Given the description of an element on the screen output the (x, y) to click on. 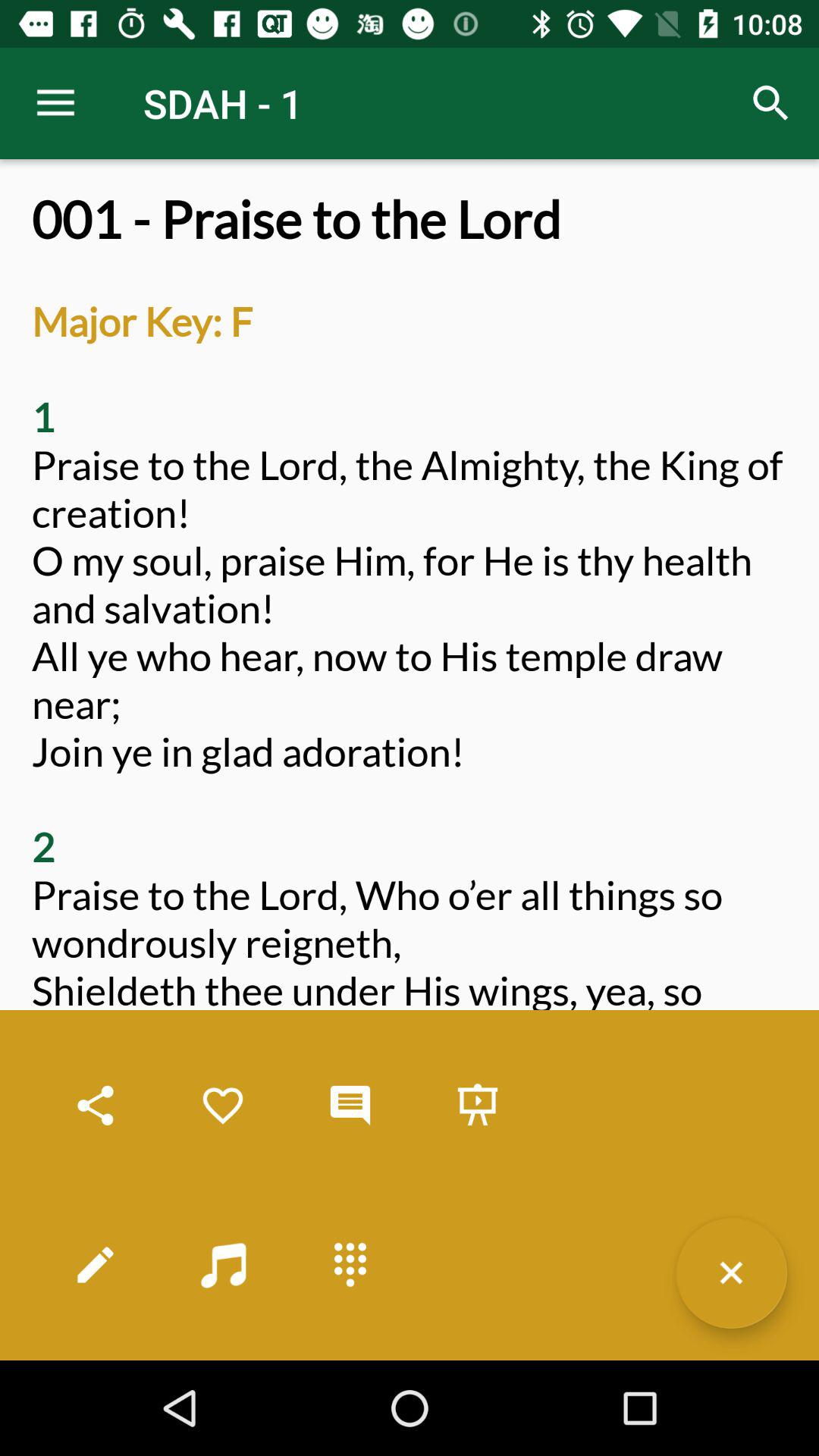
used to close the controls what we do n't need at the time (731, 1272)
